Given the description of an element on the screen output the (x, y) to click on. 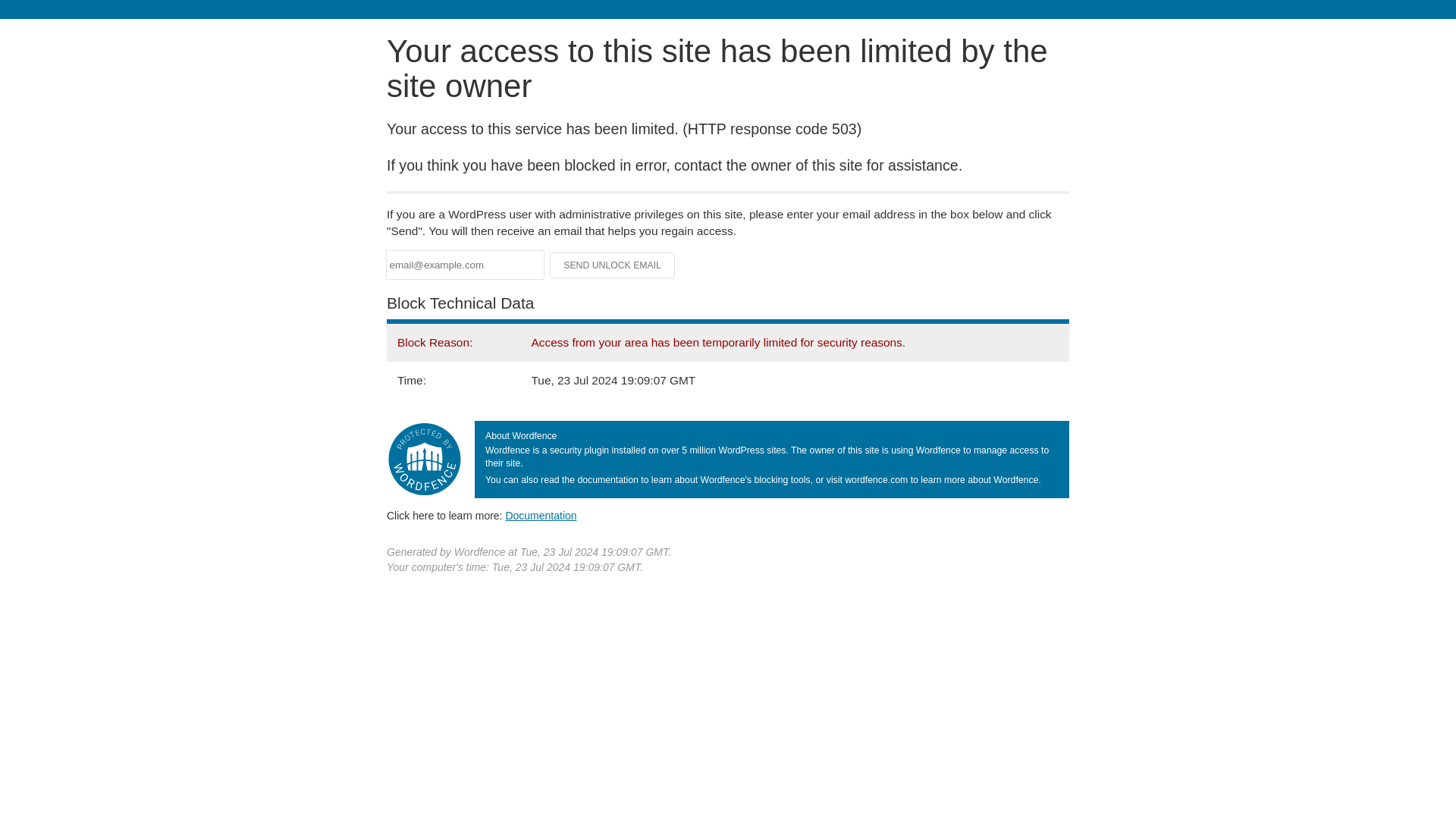
Send Unlock Email (612, 265)
Documentation (540, 515)
Send Unlock Email (612, 265)
